Given the description of an element on the screen output the (x, y) to click on. 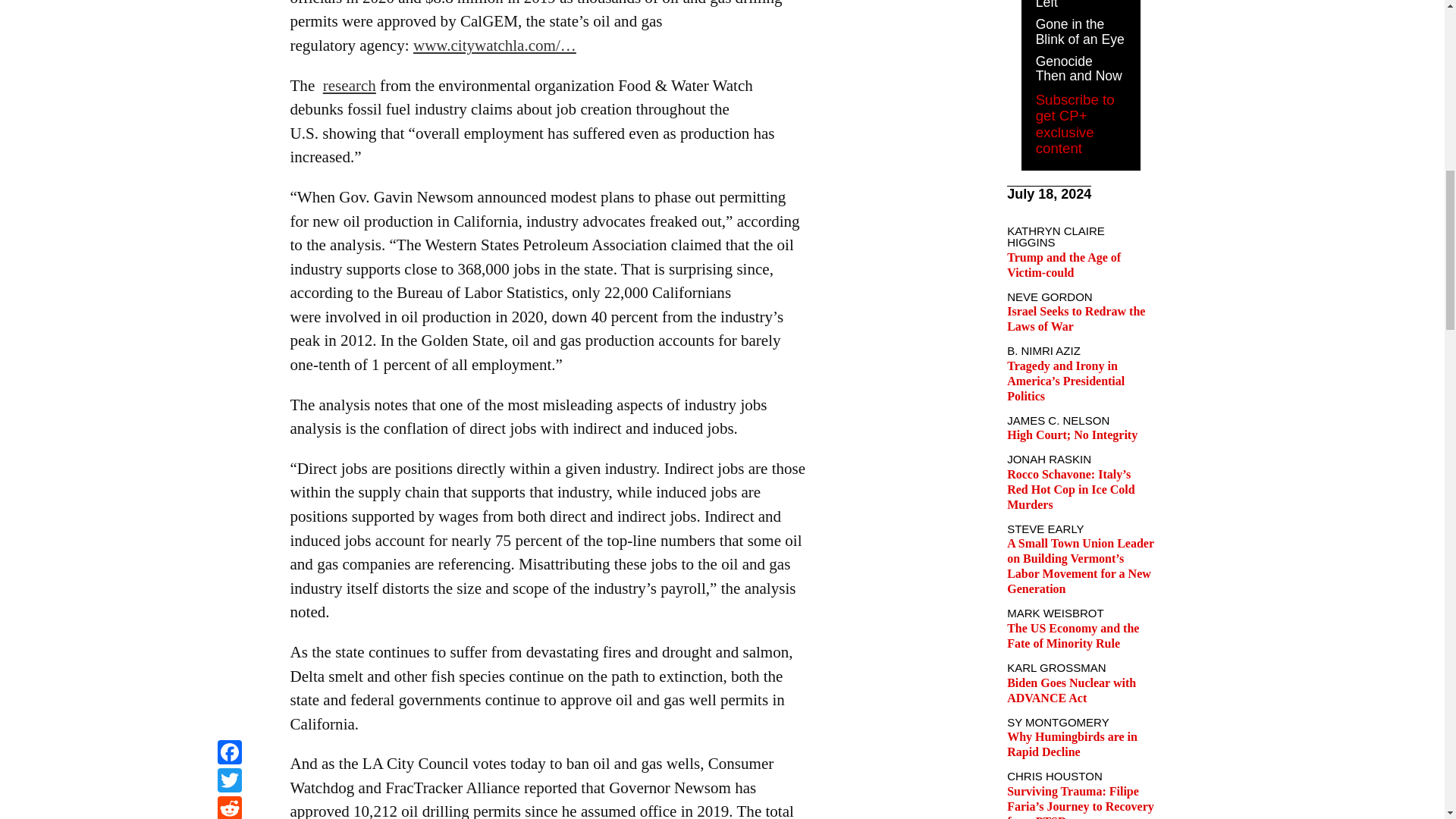
Reddit (229, 2)
Reddit (229, 2)
Email (229, 18)
Email (229, 18)
research (349, 85)
